Given the description of an element on the screen output the (x, y) to click on. 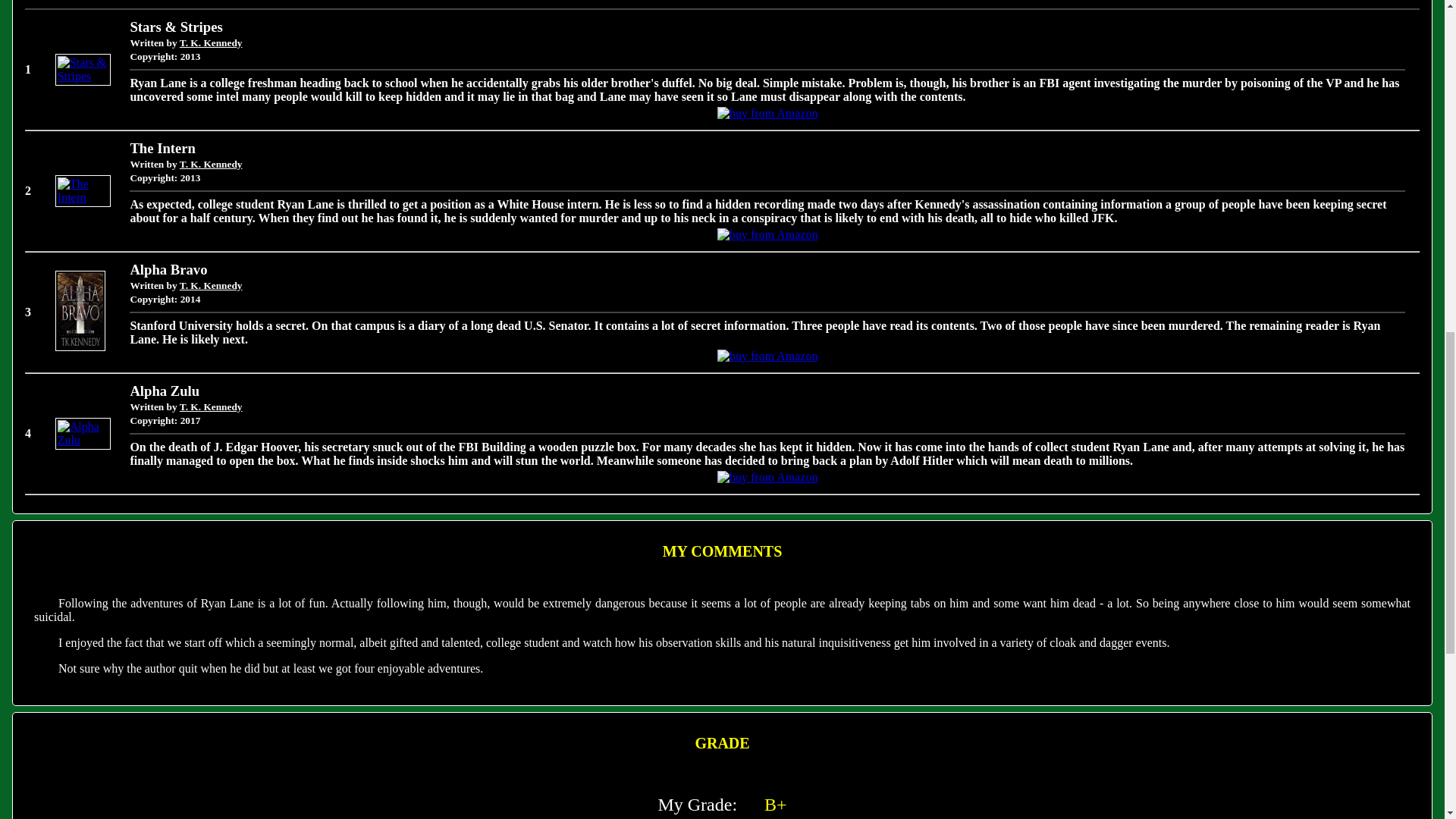
T. K. Kennedy (211, 42)
The Intern (83, 196)
Alpha Zulu (83, 440)
Alpha Bravo (79, 346)
T. K. Kennedy (211, 406)
T. K. Kennedy (211, 163)
T. K. Kennedy (211, 285)
